Given the description of an element on the screen output the (x, y) to click on. 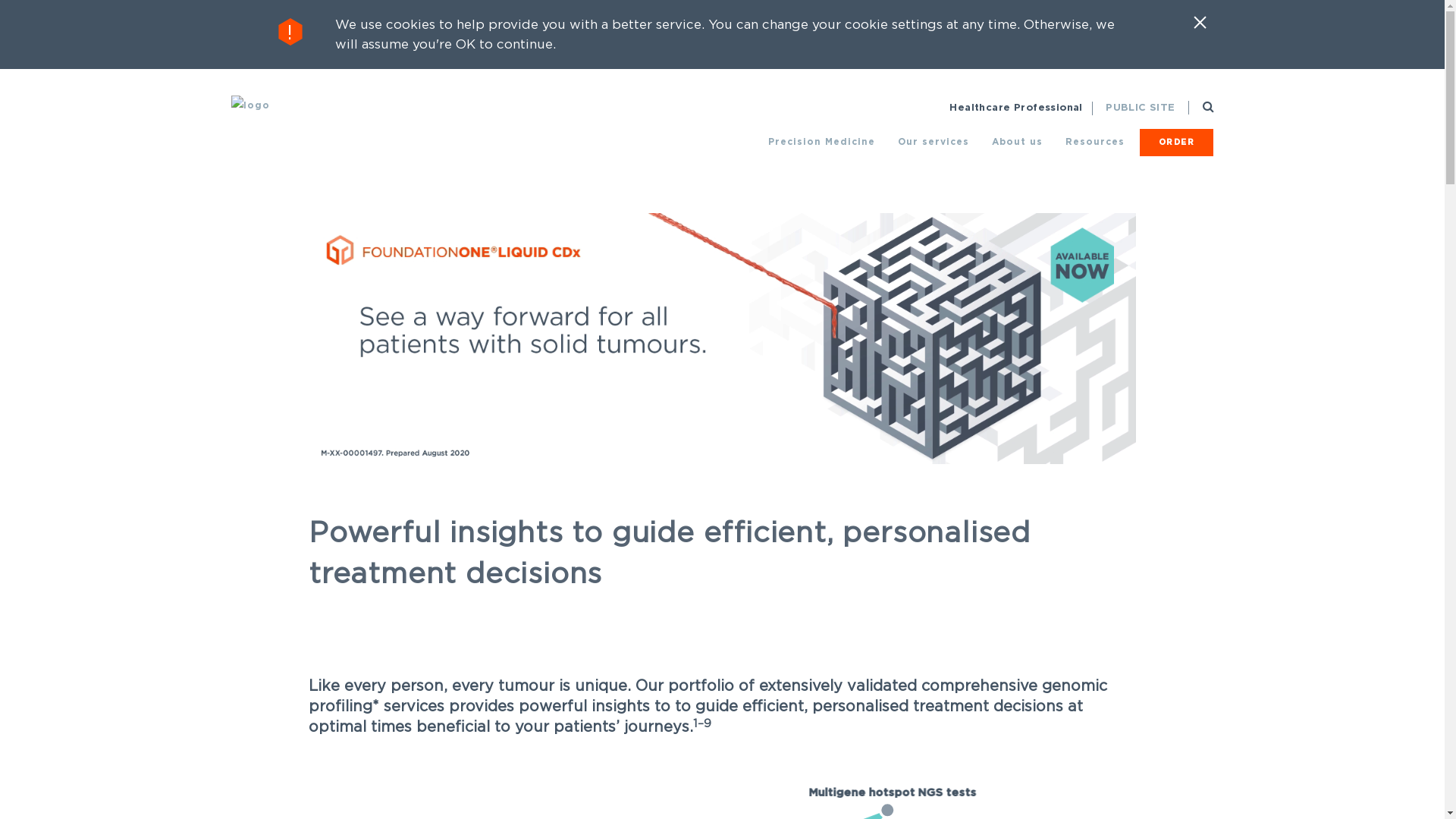
Precision Medicine Element type: text (820, 141)
About us Element type: text (1016, 141)
Our services Element type: text (933, 141)
logo Element type: hover (250, 105)
PUBLIC SITE Element type: text (1140, 108)
Resources Element type: text (1093, 141)
ORDER Element type: text (1176, 141)
